Given the description of an element on the screen output the (x, y) to click on. 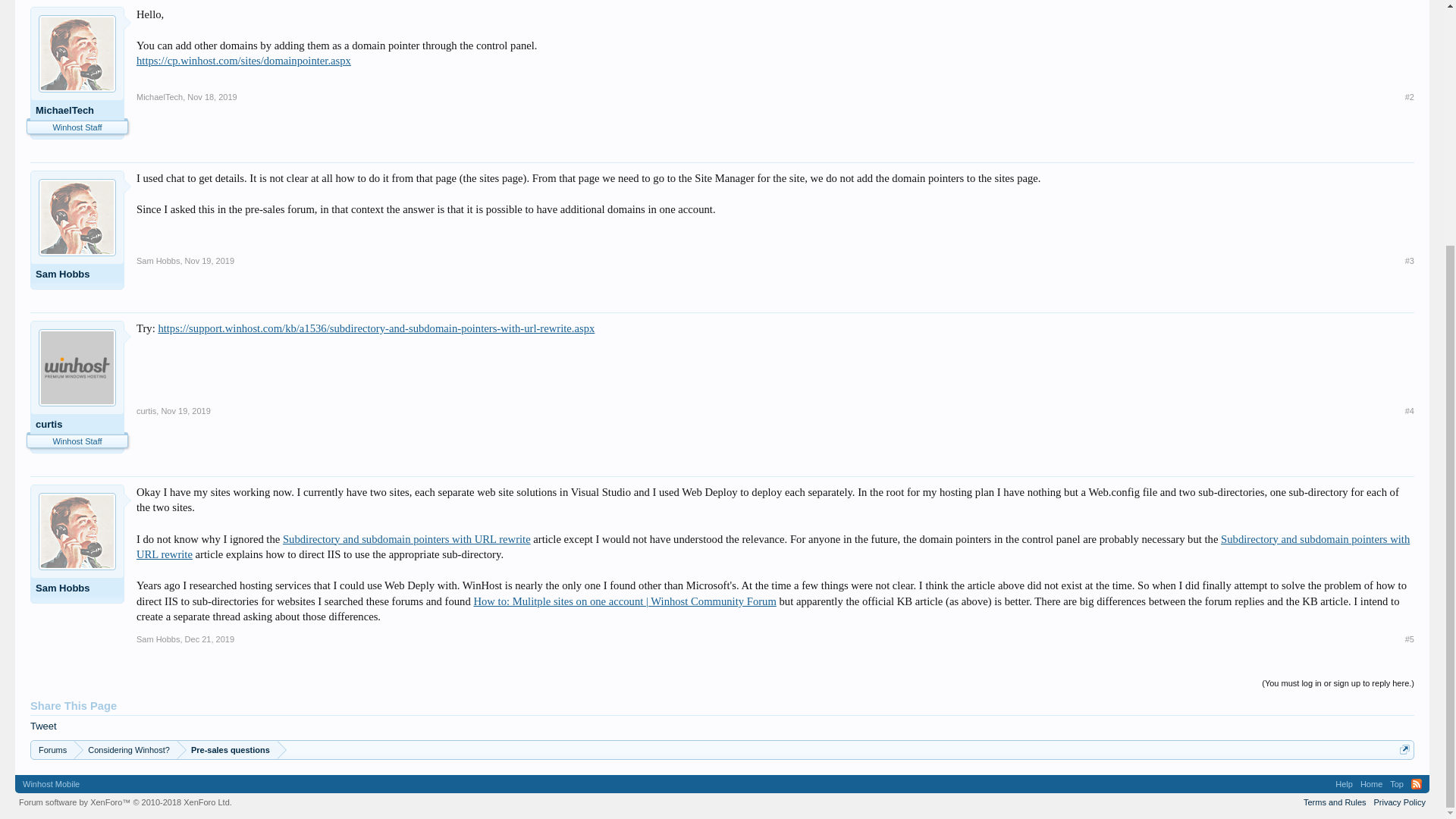
Nov 18, 2019 (211, 96)
Permalink (209, 260)
Permalink (211, 96)
Nov 19, 2019 (209, 260)
Permalink (209, 638)
Sam Hobbs (76, 590)
Permalink (1409, 410)
MichaelTech (159, 98)
Permalink (1409, 638)
Permalink (1409, 96)
Nov 19, 2019 (184, 410)
curtis (145, 412)
Subdirectory and subdomain pointers with URL rewrite (406, 539)
Sam Hobbs (76, 276)
Permalink (184, 410)
